Given the description of an element on the screen output the (x, y) to click on. 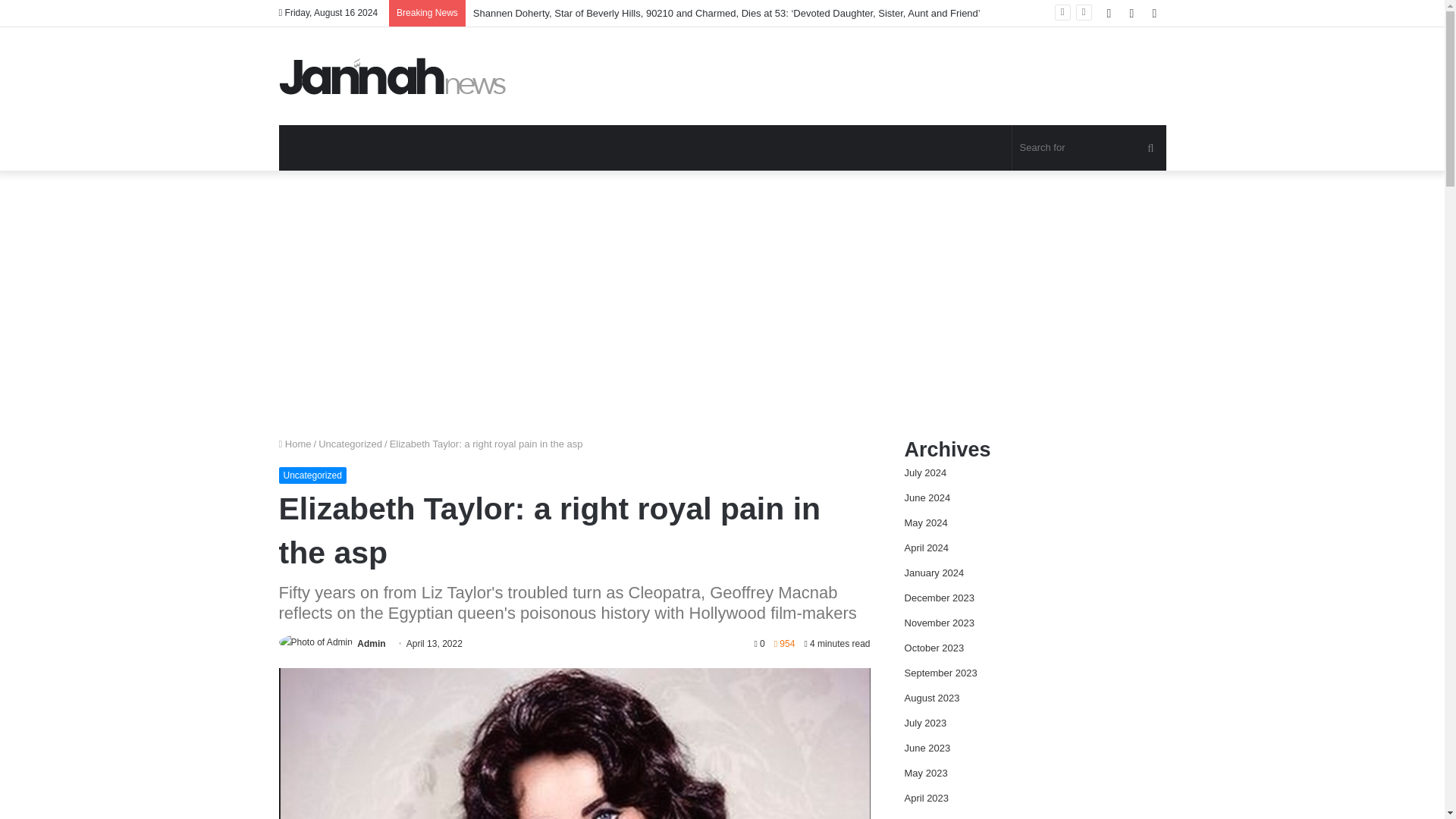
Admin (370, 643)
Admin (370, 643)
Search for (1088, 147)
Home (295, 443)
Uncategorized (312, 475)
Uncategorized (349, 443)
Movie News (392, 76)
